Given the description of an element on the screen output the (x, y) to click on. 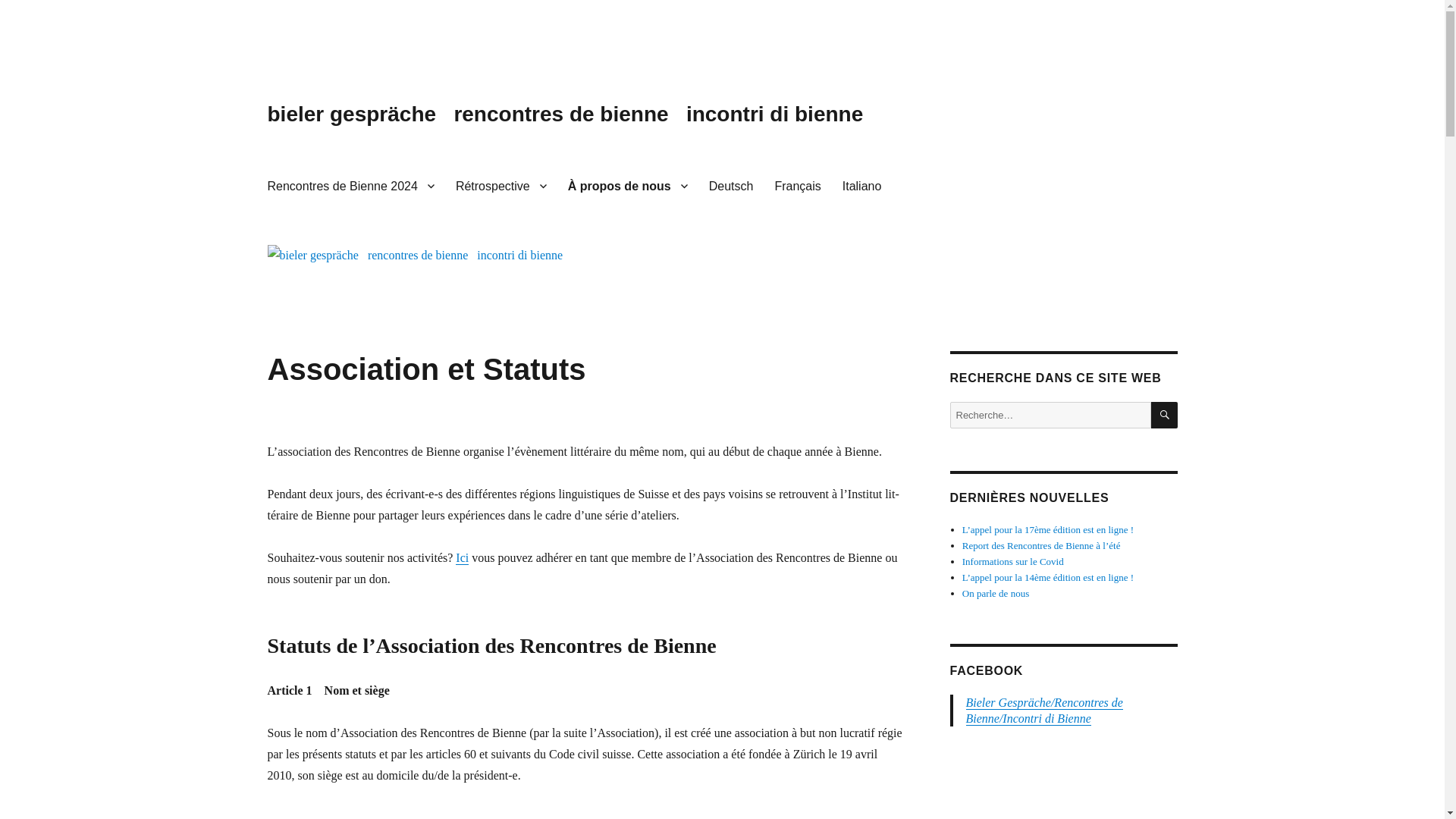
Rencontres de Bienne 2024 Element type: text (350, 185)
Deutsch Element type: text (731, 185)
Informations sur le Covid Element type: text (1012, 561)
On parle de nous Element type: text (995, 593)
RECHERCHE Element type: text (1164, 414)
Italiano Element type: text (861, 185)
Ici Element type: text (461, 557)
